Given the description of an element on the screen output the (x, y) to click on. 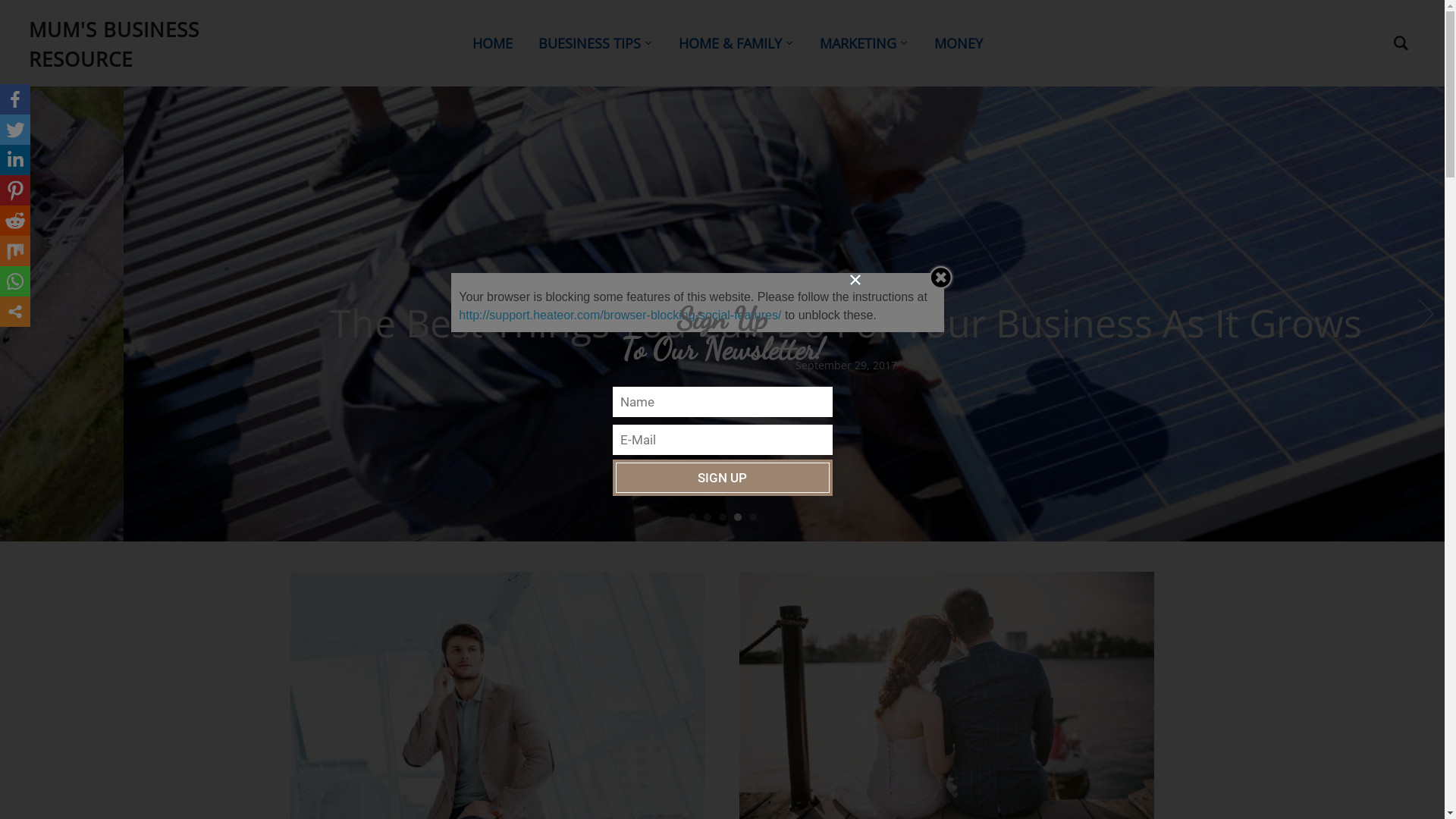
How to Have a Romantic Vintage Wedding Element type: hover (946, 705)
Linkedin Element type: hover (15, 159)
Why Phones in a Refurbished State Matter Element type: hover (496, 705)
HOME Element type: text (492, 43)
MONEY Element type: text (958, 43)
Search Element type: text (1400, 43)
Twitter Element type: hover (15, 129)
MUM'S BUSINESS RESOURCE Element type: text (113, 43)
Facebook Element type: hover (15, 99)
Things to Do Before You Buy a House Element type: text (1114, 322)
Pinterest Element type: hover (15, 190)
Mix Element type: hover (15, 250)
HOME & FAMILY Element type: text (735, 43)
SIGN UP Element type: text (722, 477)
BUESINESS TIPS Element type: text (595, 43)
Whatsapp Element type: hover (15, 281)
Reddit Element type: hover (15, 220)
MARKETING Element type: text (863, 43)
More Element type: hover (15, 311)
Hide Element type: hover (6, 340)
http://support.heateor.com/browser-blocking-social-features/ Element type: text (619, 314)
Property Element type: text (1231, 284)
